Given the description of an element on the screen output the (x, y) to click on. 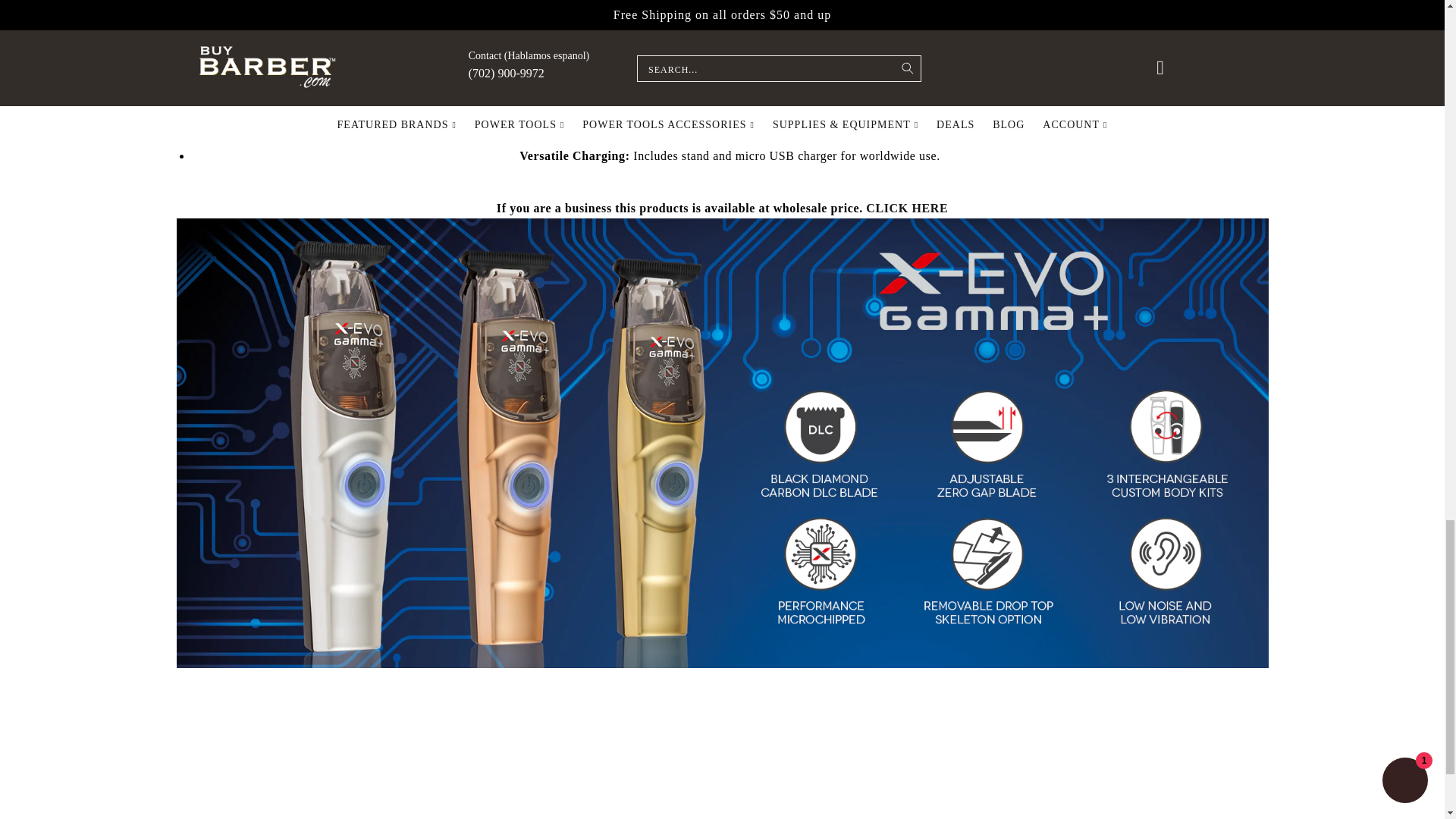
wholesale barber supplies (864, 207)
wholesale barber supplies (906, 207)
